Given the description of an element on the screen output the (x, y) to click on. 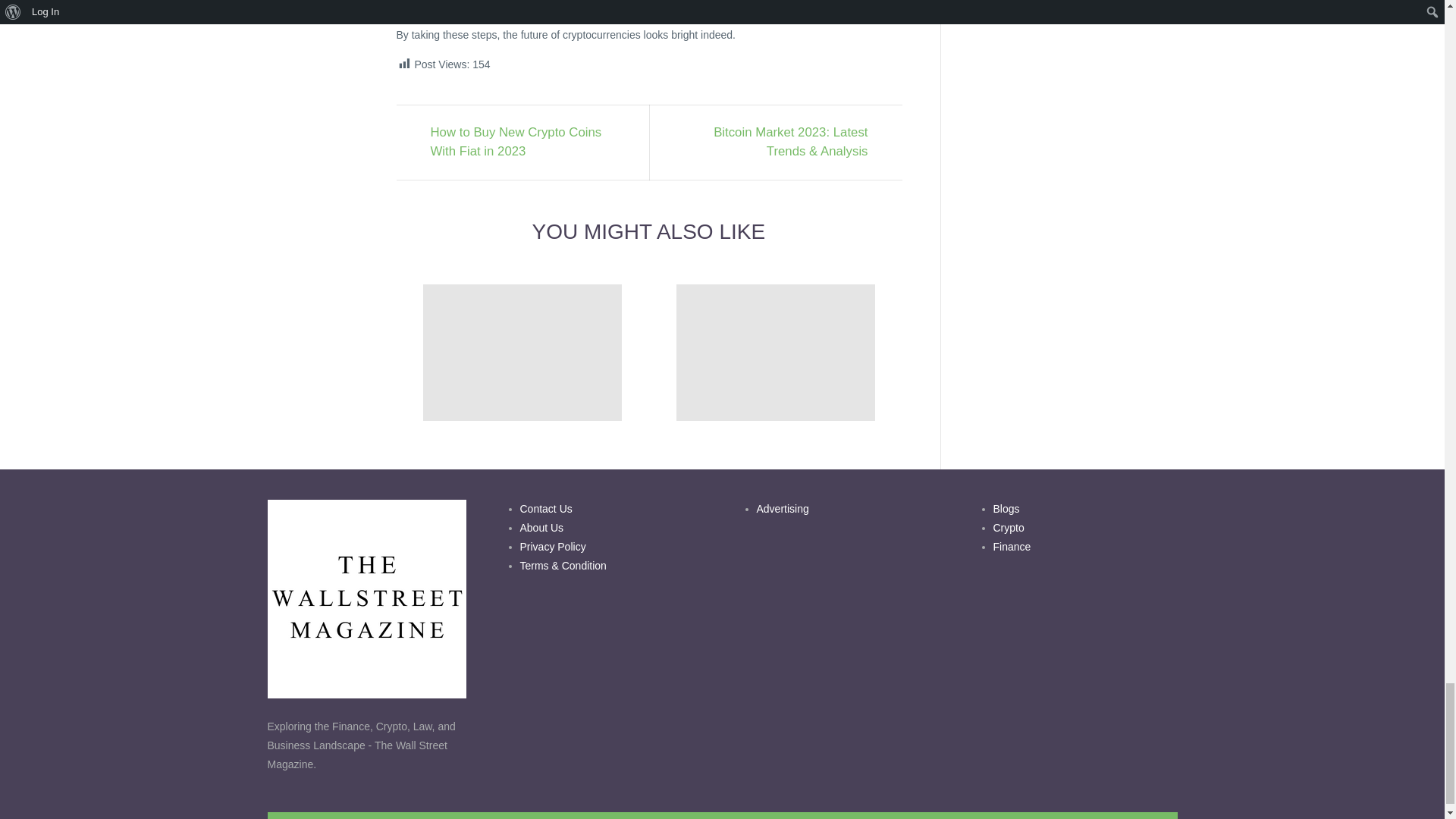
About Us (541, 527)
Blogs (1006, 508)
Contact Us (545, 508)
How to Buy New Crypto Coins With Fiat in 2023 (517, 142)
Previous (517, 142)
Advertising (783, 508)
Next (780, 142)
Privacy Policy (552, 546)
